Given the description of an element on the screen output the (x, y) to click on. 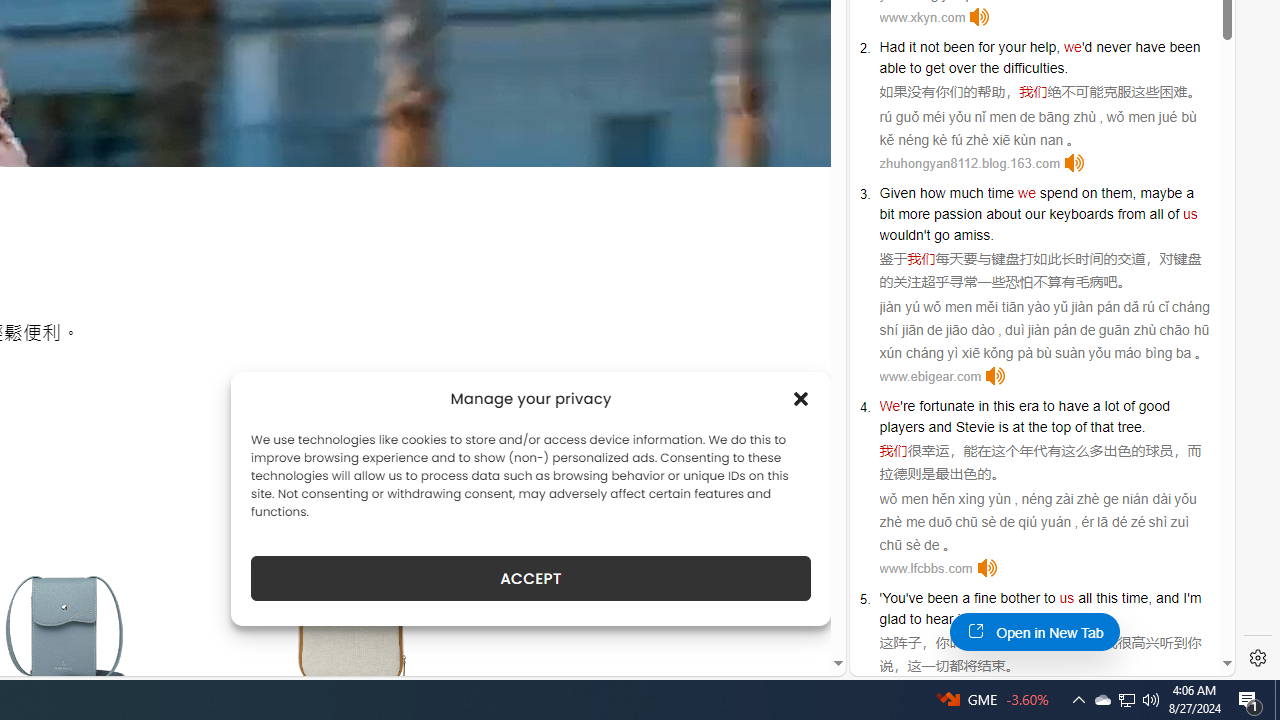
from (1131, 213)
, (1150, 597)
going (994, 619)
spend (1058, 192)
us (1066, 597)
to (1048, 405)
bother (1019, 597)
over (962, 67)
lot (1111, 405)
